Given the description of an element on the screen output the (x, y) to click on. 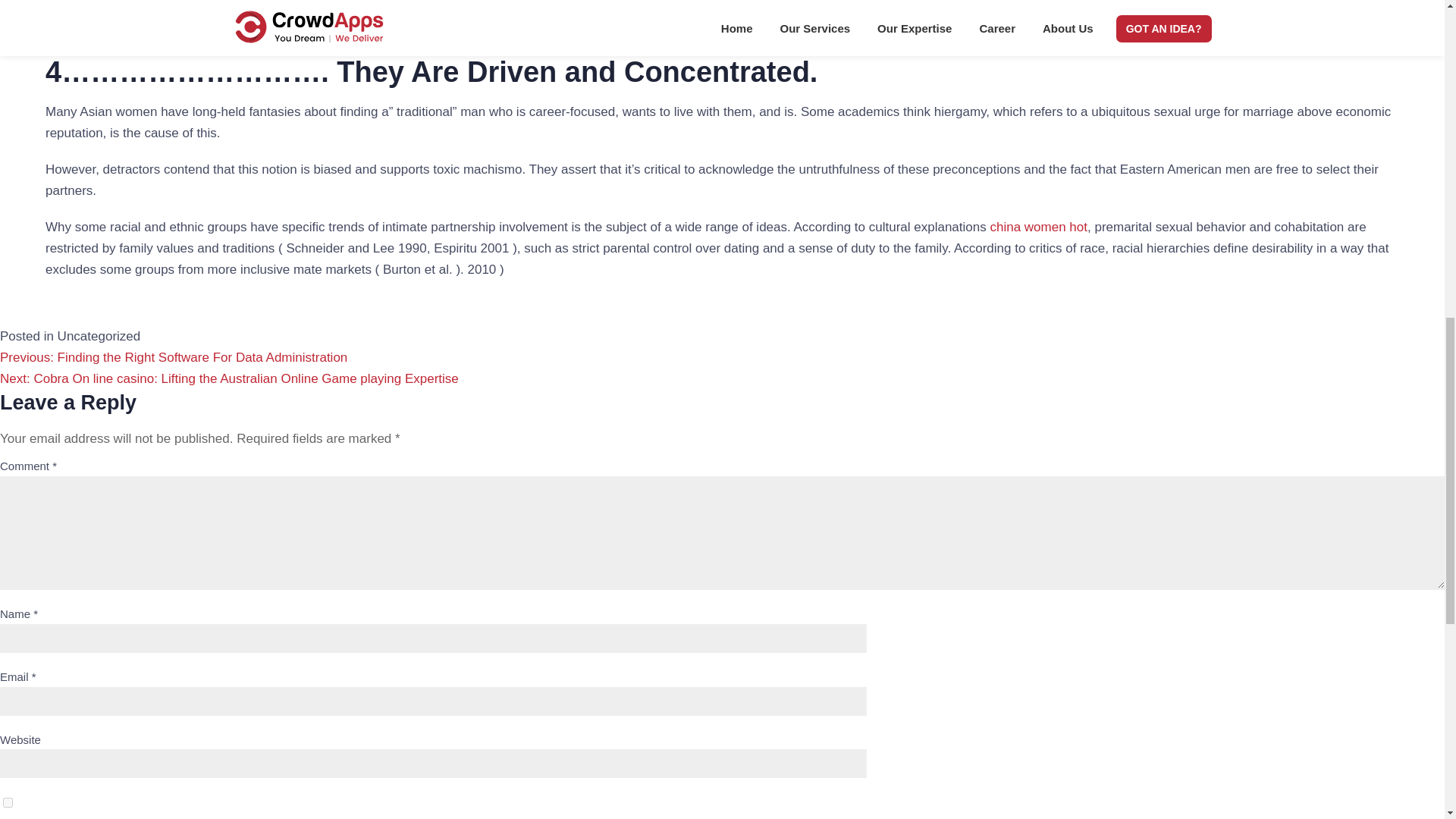
Previous: Finding the Right Software For Data Administration (173, 357)
china women hot (1038, 227)
yes (7, 802)
